Given the description of an element on the screen output the (x, y) to click on. 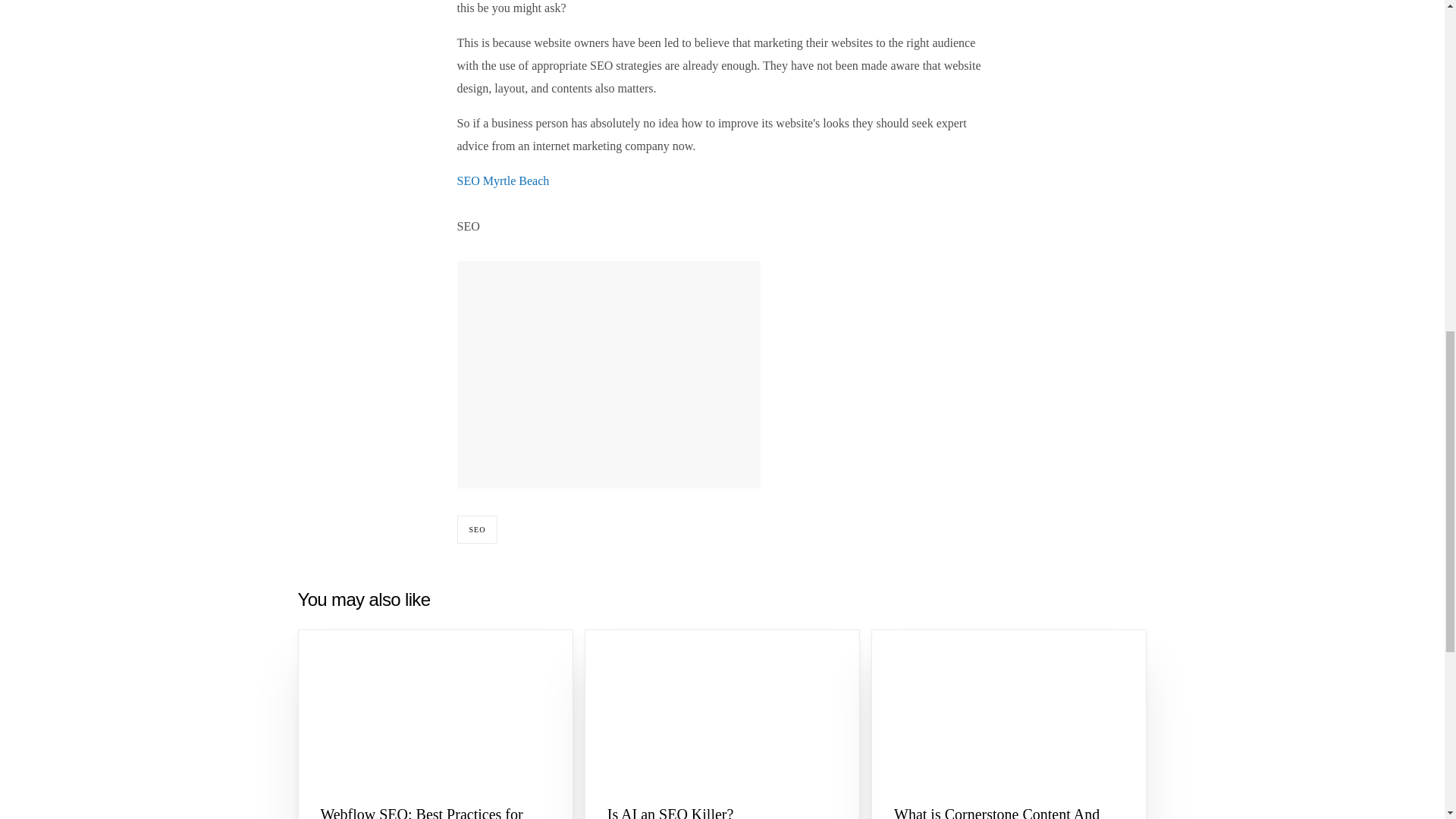
SEO (477, 529)
View Post: Is AI an SEO Killer?  (722, 812)
SEO Myrtle Beach (502, 180)
 View Post: Is AI an SEO Killer? (722, 707)
Webflow SEO: Best Practices for Optimizing Your Site (435, 812)
